Given the description of an element on the screen output the (x, y) to click on. 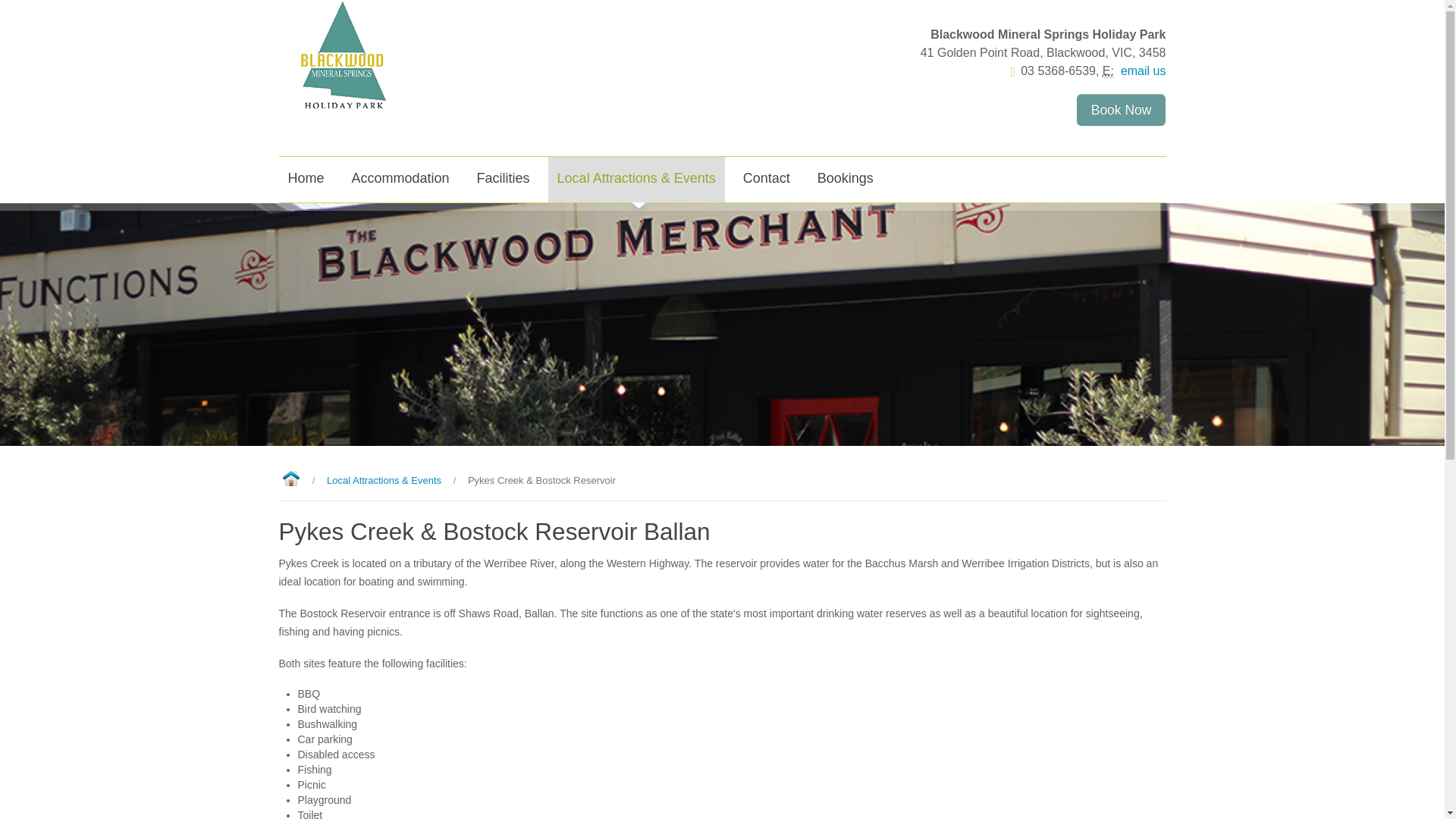
Accommodation (400, 179)
Home (306, 179)
Contact (766, 179)
Facilities (502, 179)
Make your booking now! (1121, 110)
Book Now (1121, 110)
email us (1141, 70)
Bookings (845, 179)
